Given the description of an element on the screen output the (x, y) to click on. 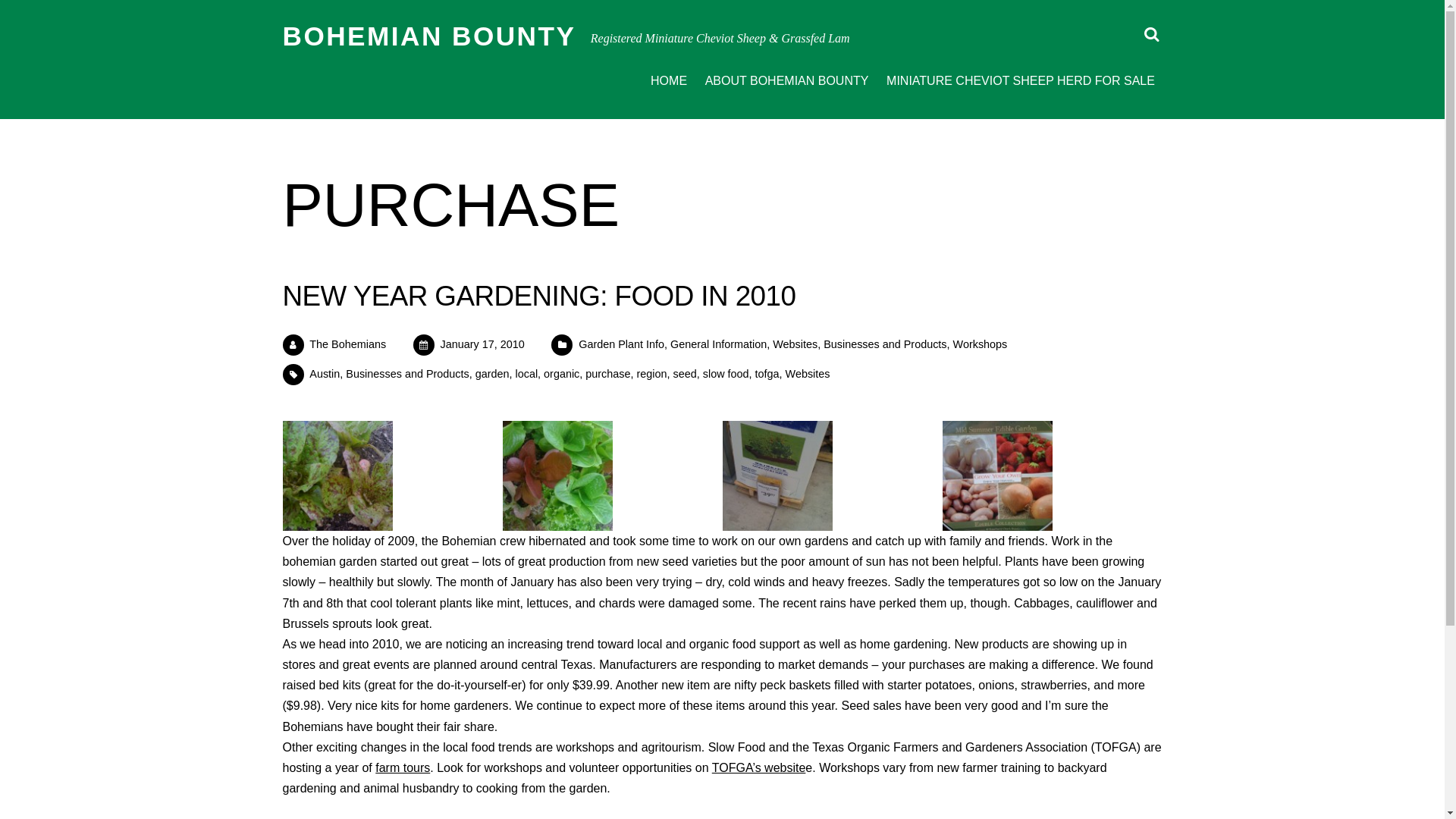
seed (684, 373)
purchase (607, 373)
region (651, 373)
MINIATURE CHEVIOT SHEEP HERD FOR SALE (1020, 81)
NEW YEAR GARDENING: FOOD IN 2010 (538, 296)
tofga (766, 373)
ABOUT BOHEMIAN BOUNTY (786, 81)
Businesses and Products (407, 373)
garden (492, 373)
Bohemian Bounty (428, 35)
Austin (323, 373)
Websites, Businesses and Products (859, 344)
local (526, 373)
farm tours (402, 767)
Websites (807, 373)
